Given the description of an element on the screen output the (x, y) to click on. 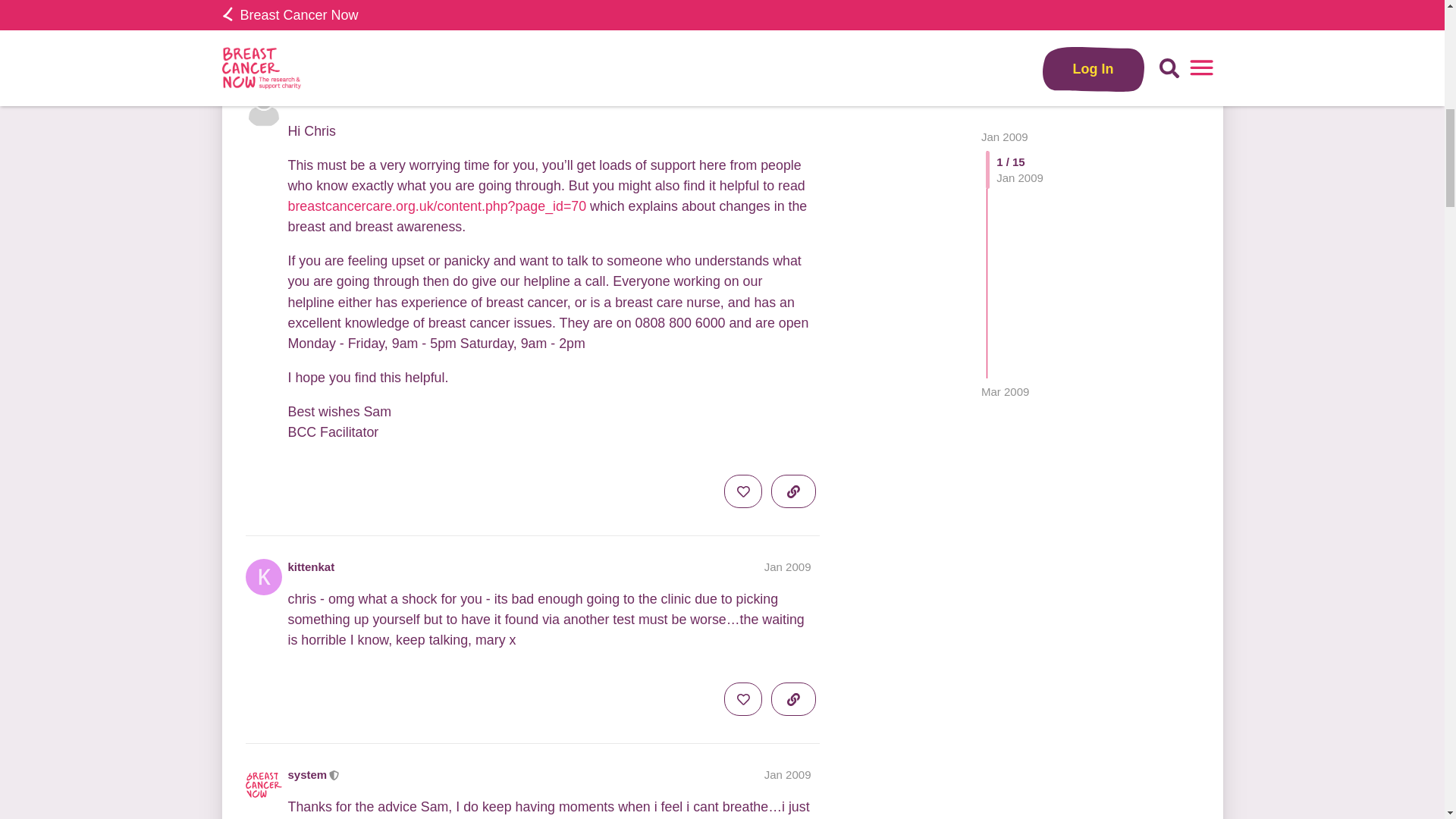
last reply (413, 19)
21 Jan 2009 03:54 (340, 36)
system (562, 30)
kittenkat (311, 566)
Mar 2009 (1005, 20)
Jan 2009 (787, 774)
system (304, 37)
expand topic details (793, 30)
1 Mar 2009 06:30 (424, 36)
Jan 2009 (787, 566)
Jan 2009 (787, 98)
1 Mar 2009 06:30 (1005, 20)
12 (562, 30)
system (387, 37)
system (307, 774)
